Given the description of an element on the screen output the (x, y) to click on. 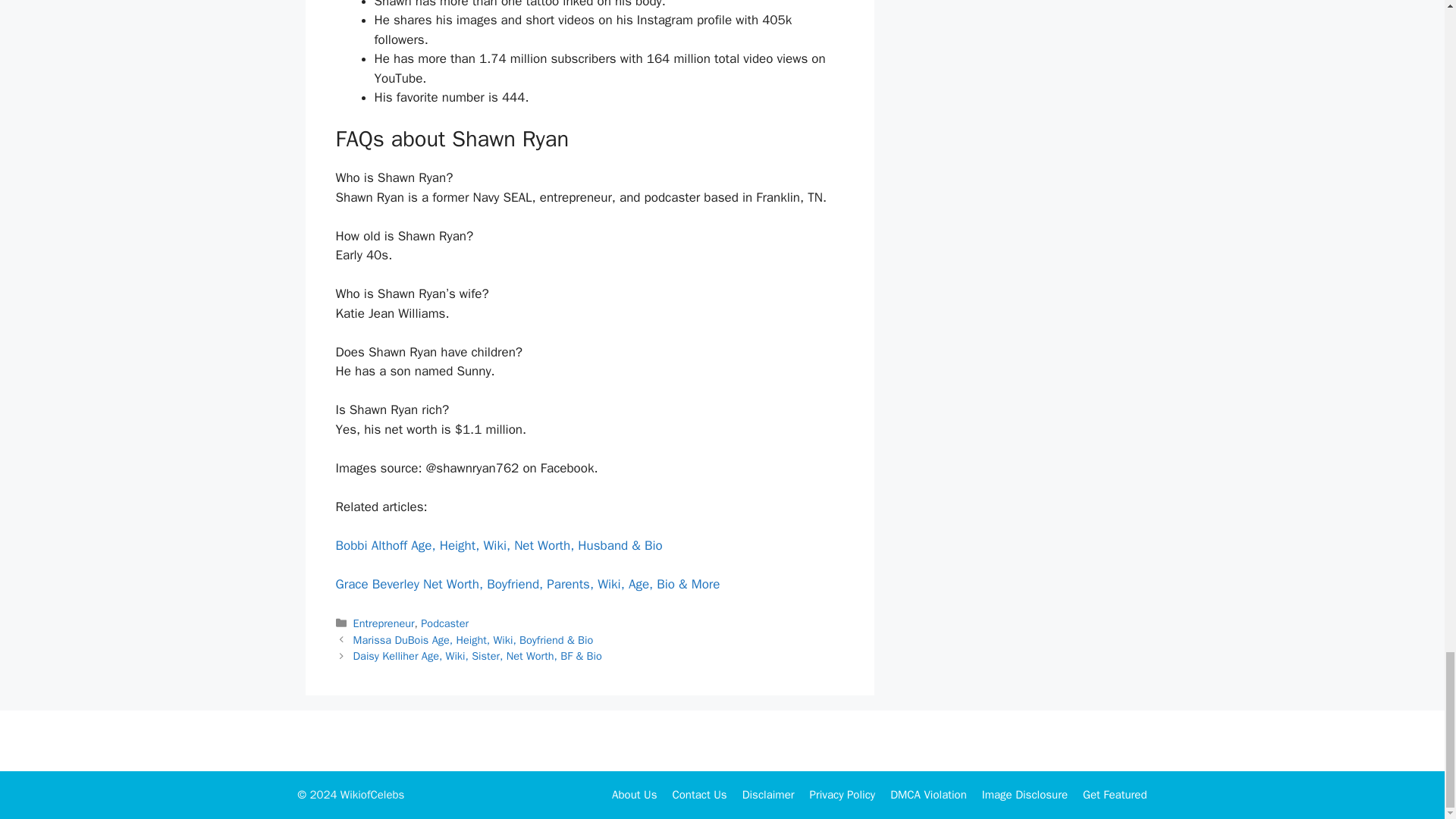
Podcaster (444, 622)
Privacy Policy (842, 794)
Contact Us (698, 794)
About Us (633, 794)
DMCA Violation (927, 794)
Disclaimer (768, 794)
Image Disclosure (1024, 794)
Entrepreneur (383, 622)
Get Featured (1115, 794)
